Given the description of an element on the screen output the (x, y) to click on. 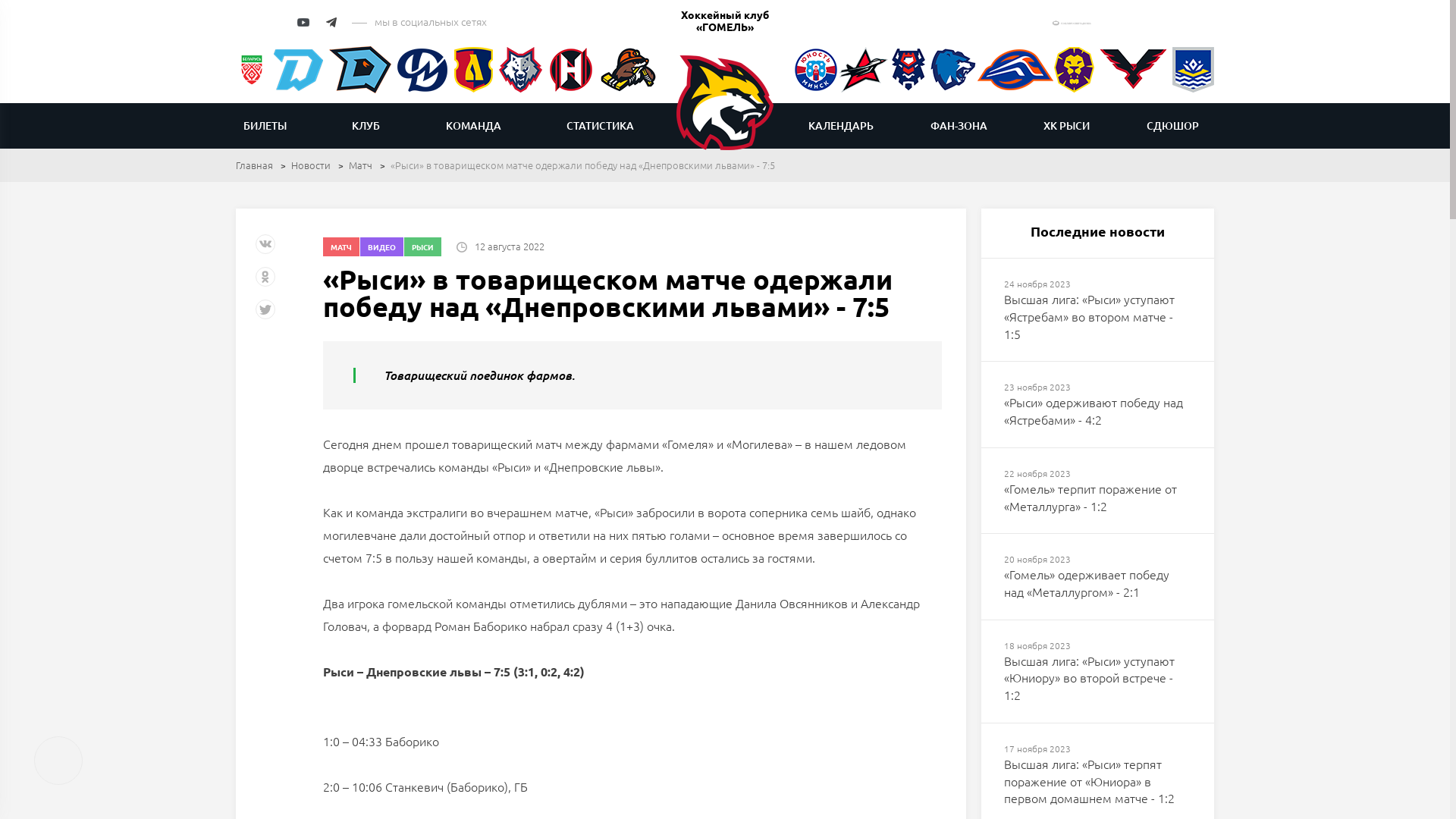
Twitter Element type: hover (266, 314)
